Given the description of an element on the screen output the (x, y) to click on. 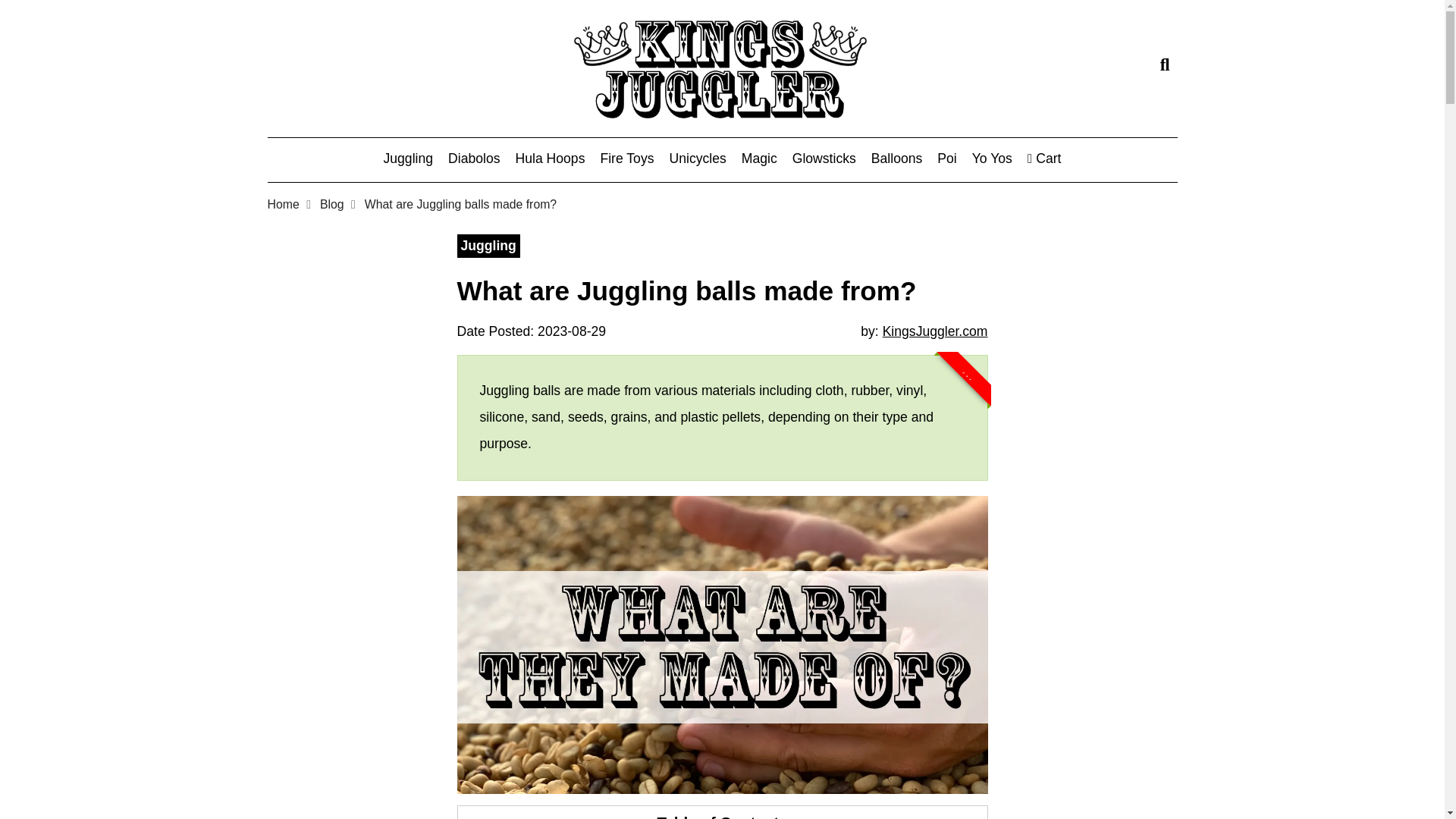
Yo Yos (991, 159)
Balloons (896, 159)
Balloons (896, 159)
Home (282, 204)
Poi (946, 159)
Glowsticks (824, 159)
Hula Hoops (550, 159)
Cart (1044, 159)
KingsJuggler.com (935, 331)
Juggling (408, 159)
Poi (946, 159)
Unicycles (696, 159)
Blog (331, 204)
Hula Hoops (550, 159)
Magic (759, 159)
